Given the description of an element on the screen output the (x, y) to click on. 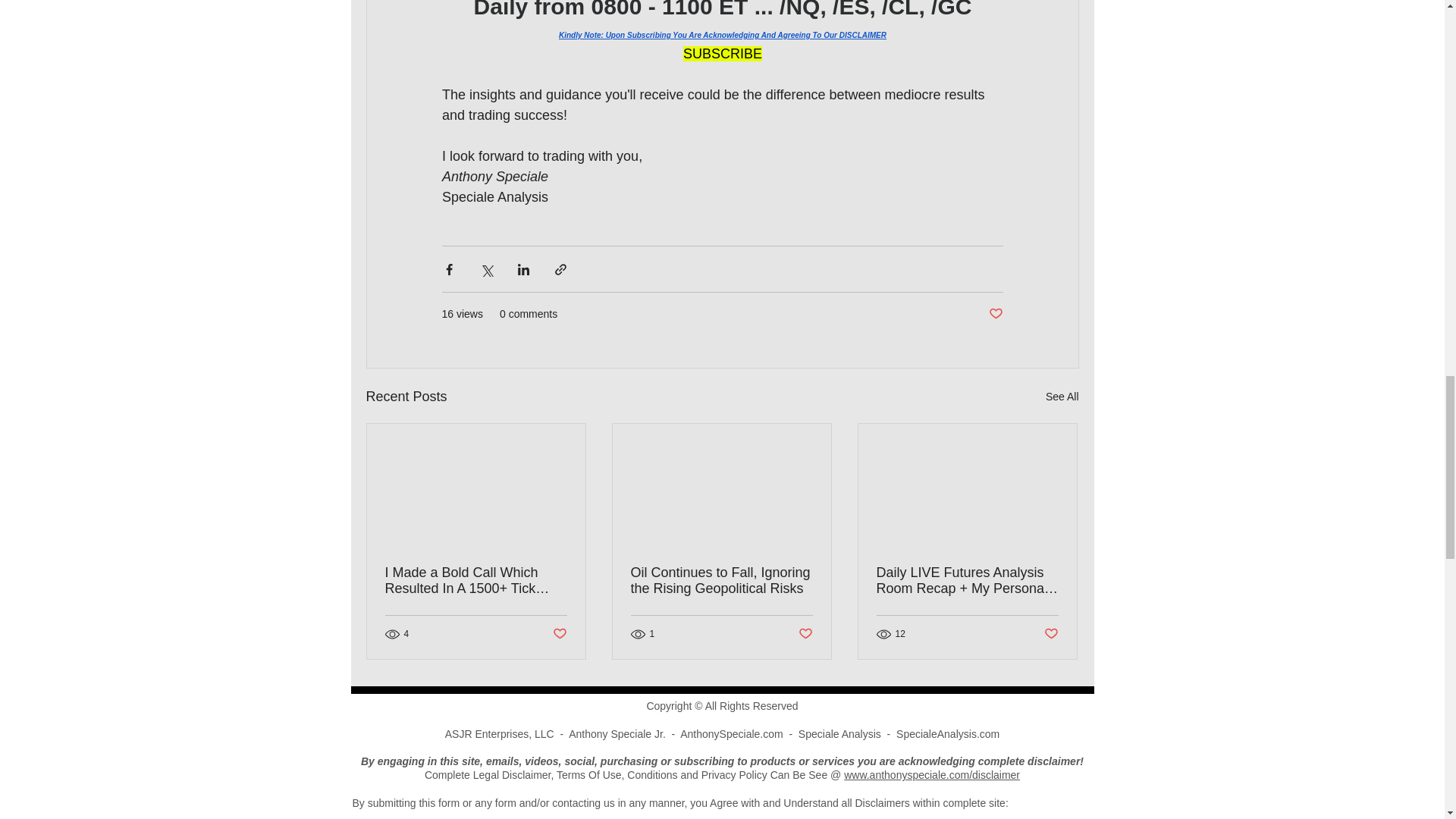
SUBSCRIBE (721, 53)
Post not marked as liked (558, 634)
Post not marked as liked (804, 634)
Post not marked as liked (995, 314)
Post not marked as liked (1050, 634)
See All (1061, 396)
